Given the description of an element on the screen output the (x, y) to click on. 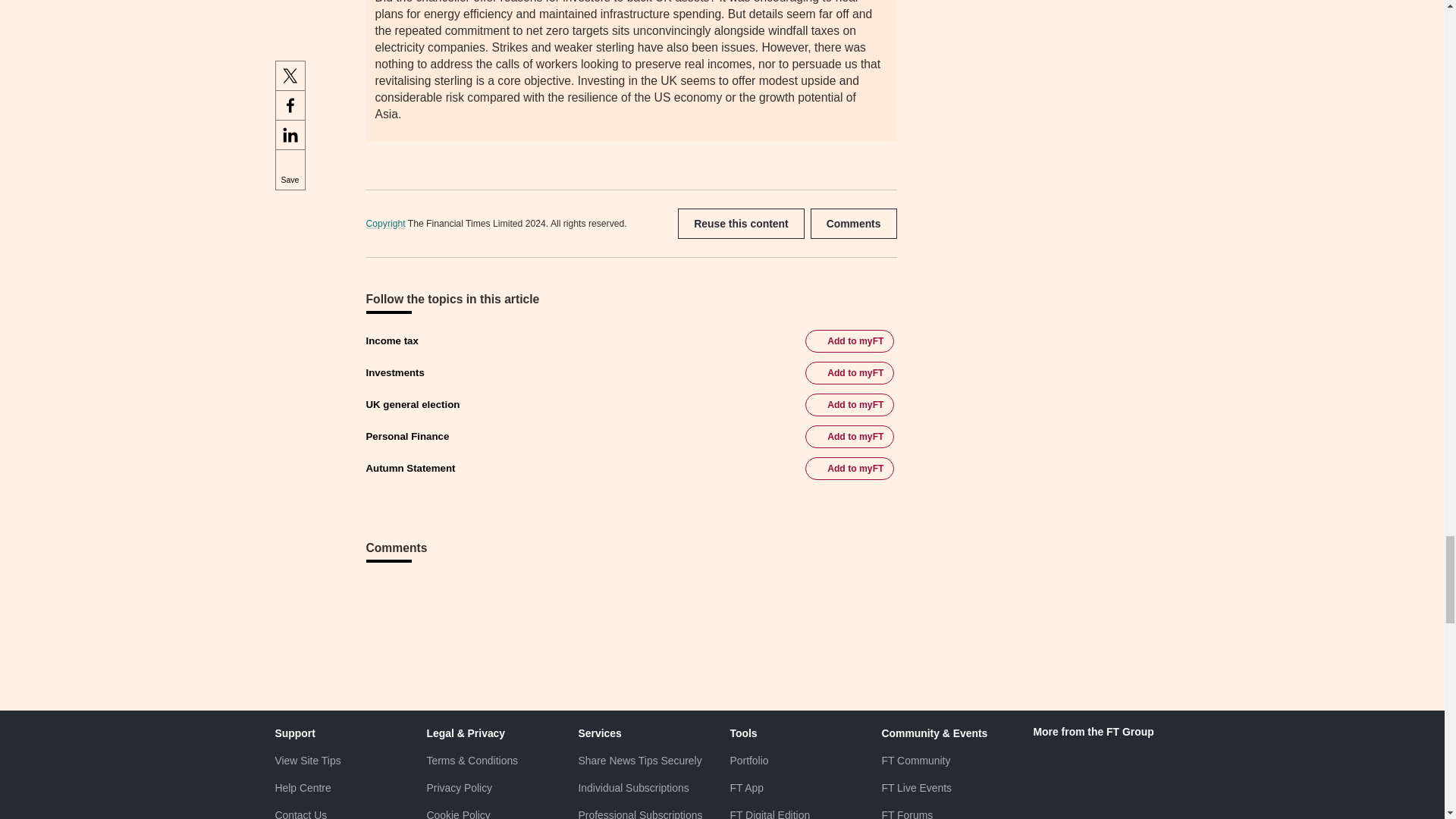
Add Personal Finance to myFT (849, 436)
Add Income tax to myFT (849, 341)
Add UK general election to myFT (849, 404)
Add Investments to myFT (849, 372)
Add Autumn Statement to myFT (849, 468)
Jump to comments section (853, 223)
